Given the description of an element on the screen output the (x, y) to click on. 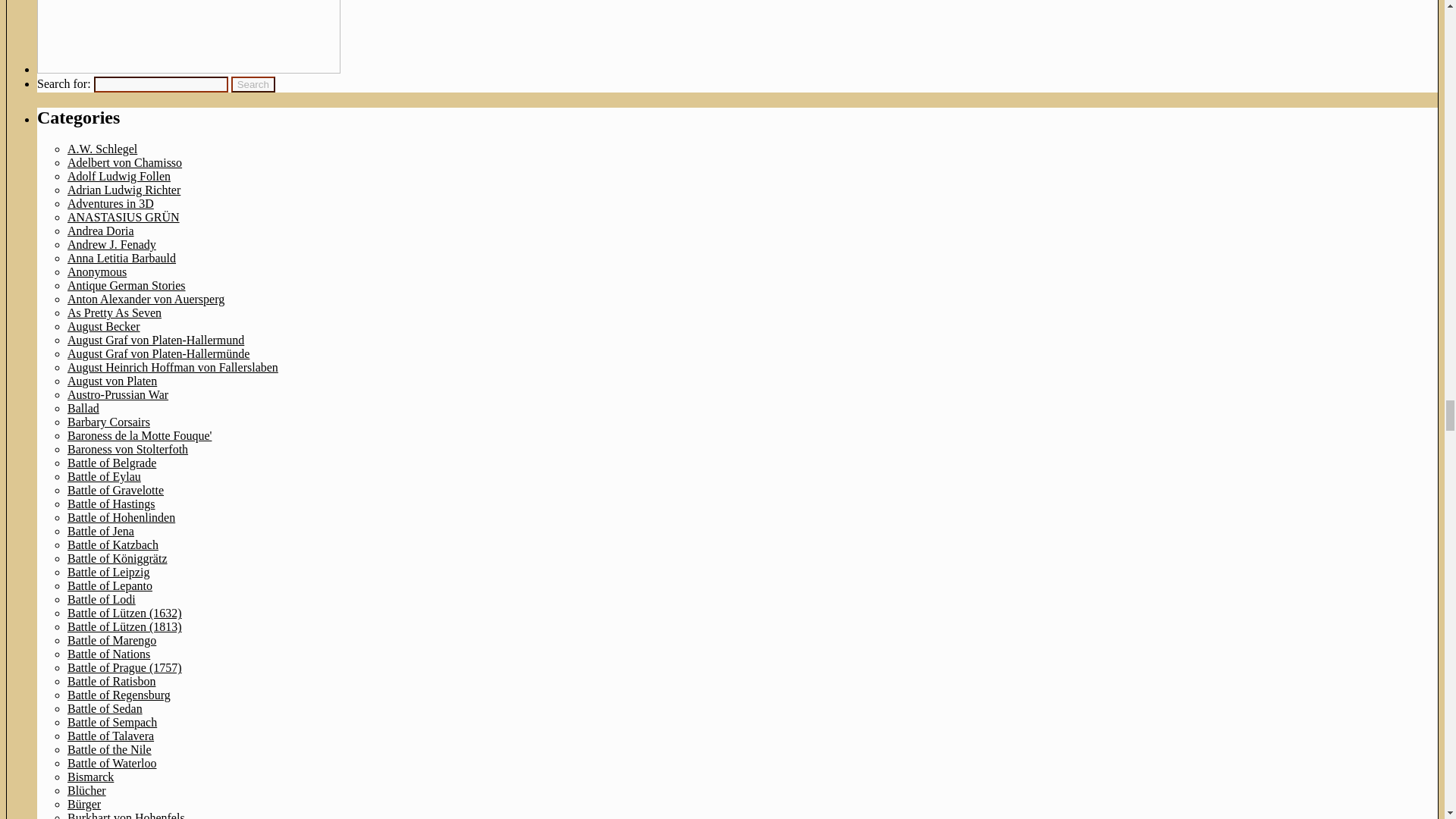
Search (253, 84)
August Graf von Platen-Hallermund (155, 339)
Austro-Prussian War (117, 394)
Adolf Ludwig Follen (118, 175)
Search (253, 84)
Andrew J. Fenady (110, 244)
As Pretty As Seven (113, 312)
Antique German Stories (126, 285)
August Becker (102, 326)
Adelbert von Chamisso (124, 162)
